Given the description of an element on the screen output the (x, y) to click on. 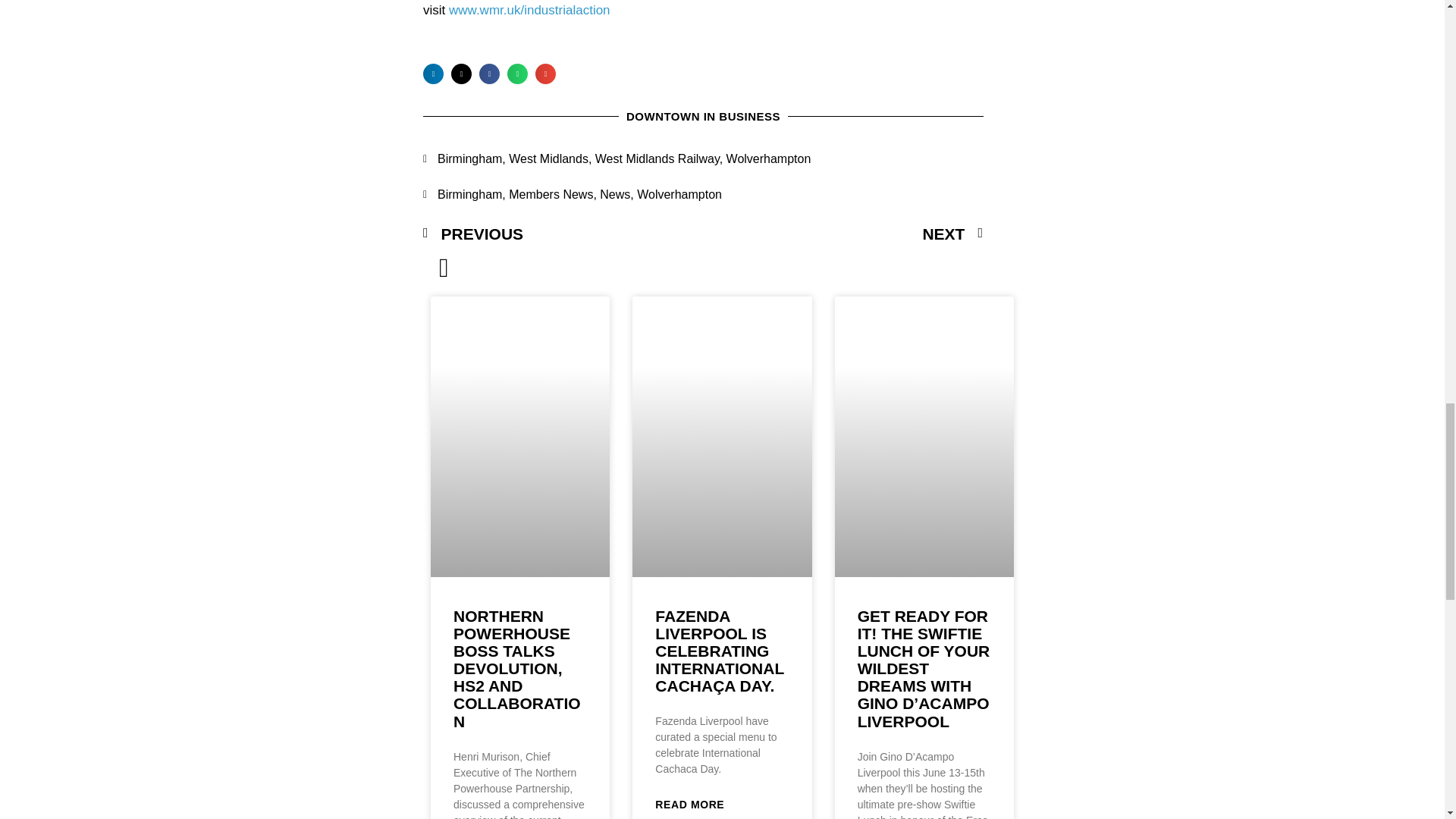
Birmingham (470, 194)
West Midlands (548, 158)
Wolverhampton (768, 158)
News (614, 194)
PREVIOUS (563, 234)
Birmingham (470, 158)
Wolverhampton (679, 194)
Members News (550, 194)
NEXT (842, 234)
